Given the description of an element on the screen output the (x, y) to click on. 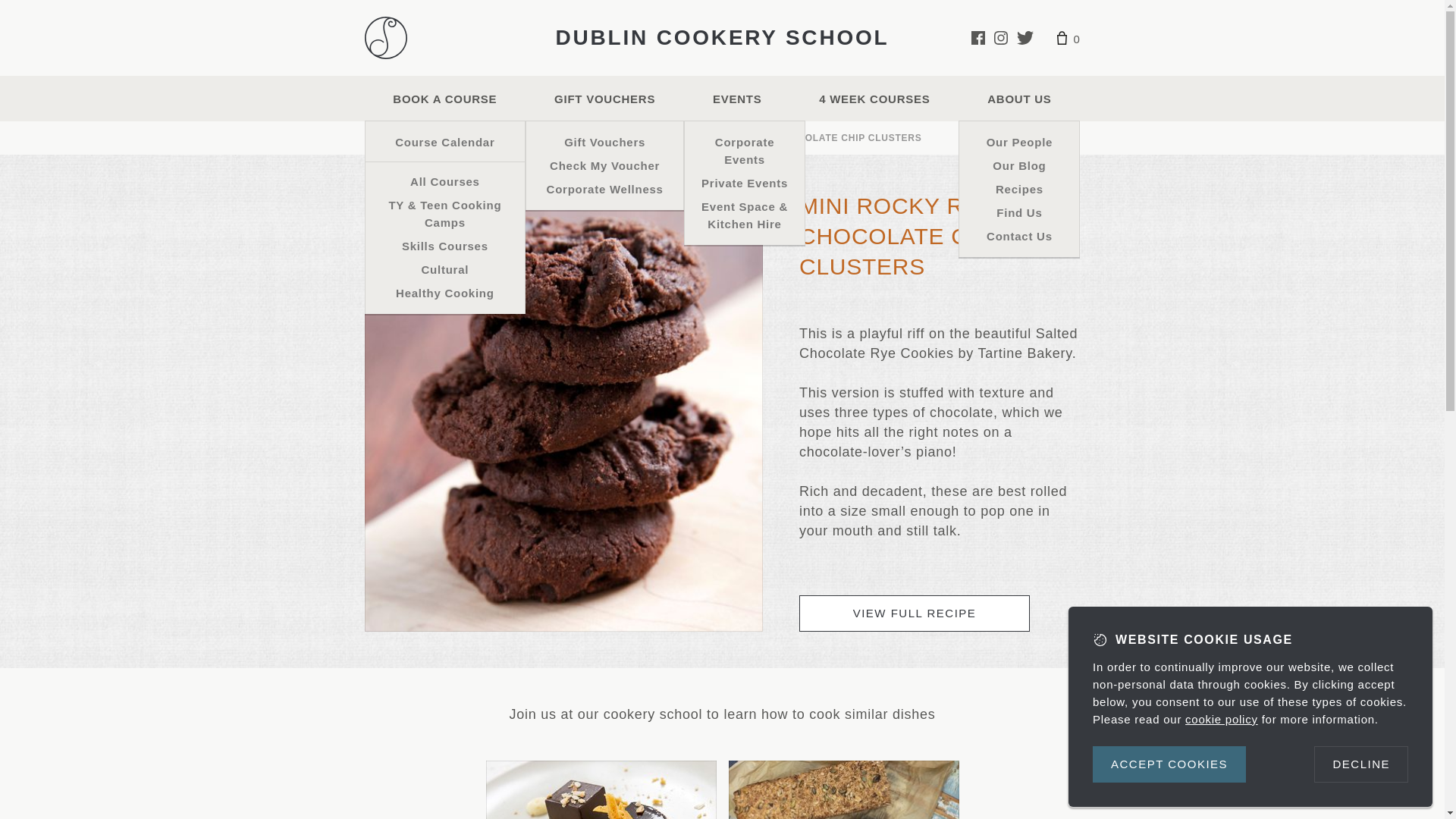
DUBLIN COOKERY SCHOOL (722, 38)
Corporate Wellness (603, 188)
ABOUT US (1019, 98)
Recipes (1018, 188)
HOME (378, 137)
GIFT VOUCHERS (604, 98)
Private Events (744, 182)
RECIPES (490, 137)
EVENTS (737, 98)
Gift Vouchers (603, 141)
Skills Courses (445, 245)
Find Us (1018, 212)
0 (1068, 37)
Course Calendar (445, 141)
Check My Voucher (603, 165)
